Given the description of an element on the screen output the (x, y) to click on. 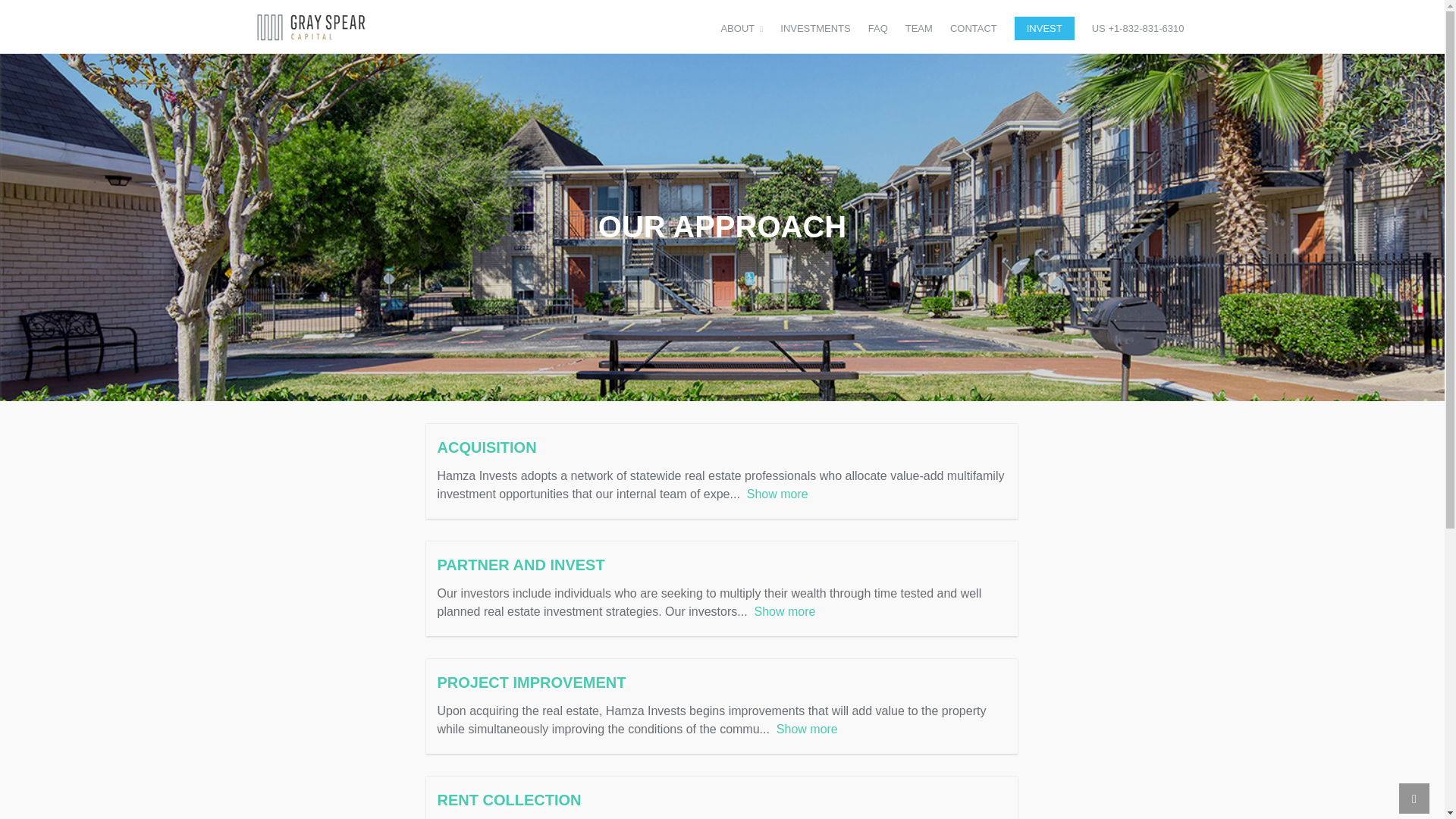
INVESTMENTS (815, 26)
Show more (784, 611)
ABOUT (741, 26)
Show more (777, 493)
INVEST (1044, 26)
CONTACT (974, 26)
Show more (807, 728)
